Given the description of an element on the screen output the (x, y) to click on. 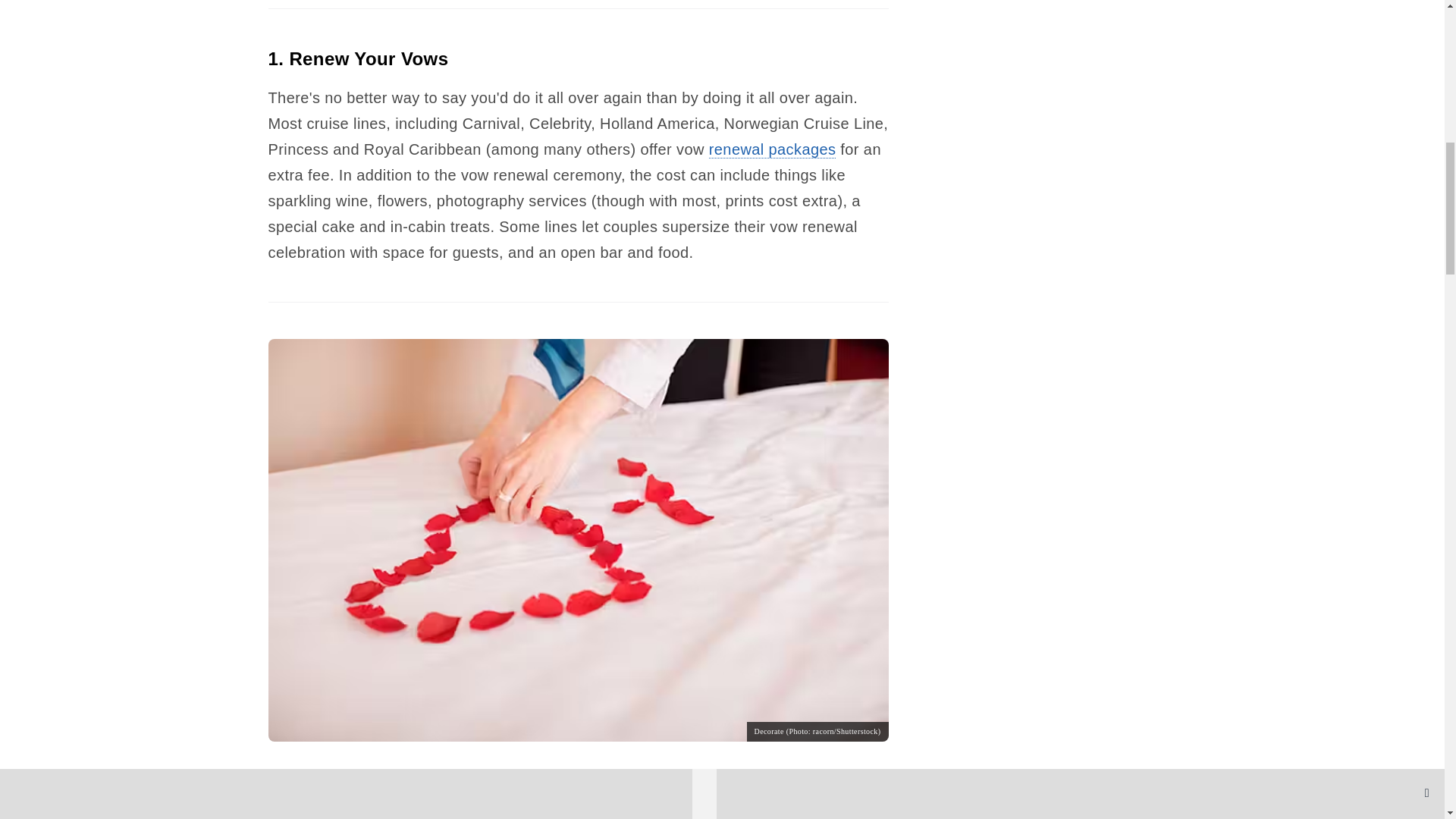
renewal packages (772, 149)
